Given the description of an element on the screen output the (x, y) to click on. 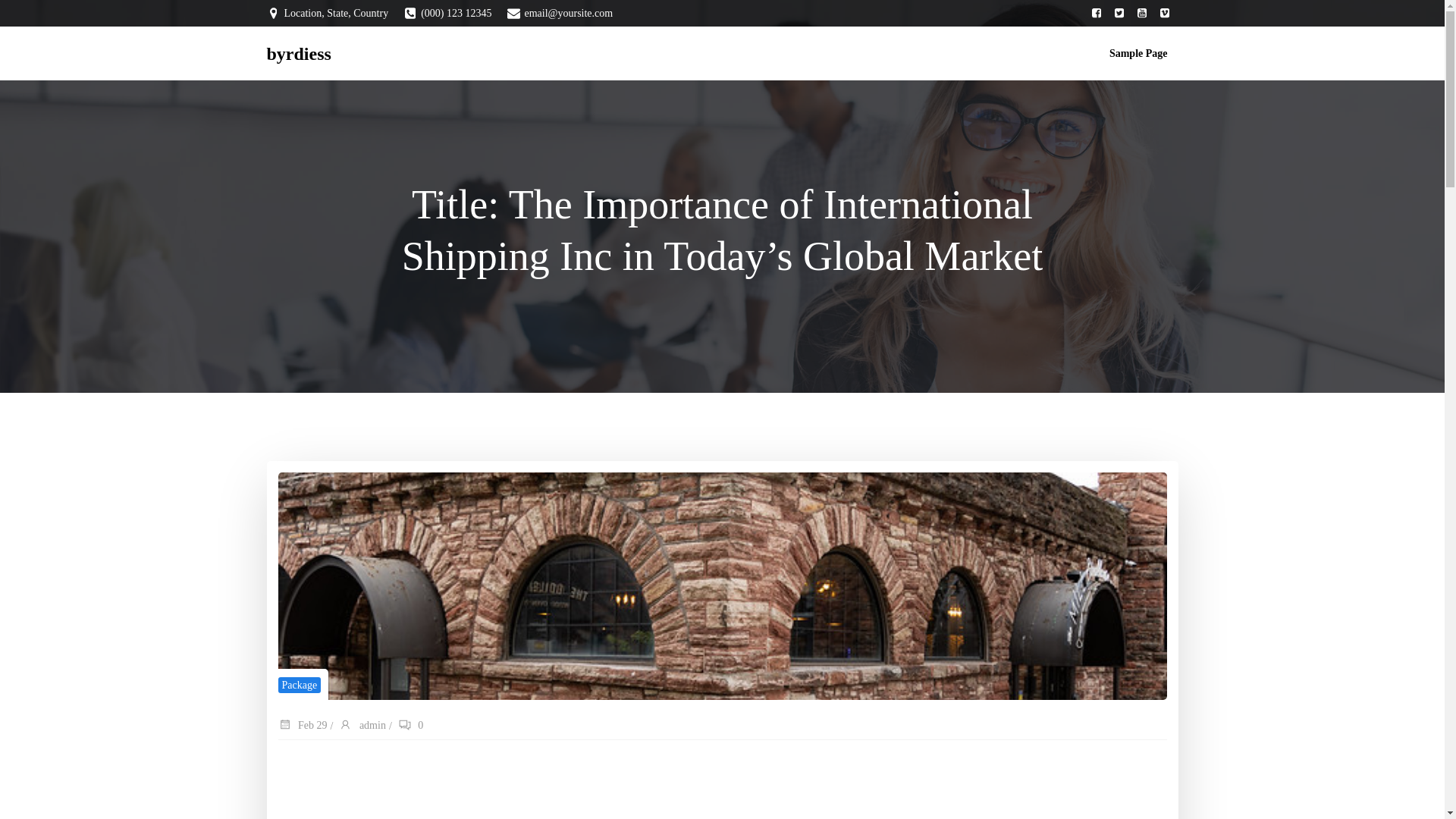
Package (299, 684)
byrdiess (298, 52)
Location, State, Country (327, 12)
Feb 29 (302, 726)
0 (410, 726)
admin (362, 726)
Sample Page (1138, 53)
